Given the description of an element on the screen output the (x, y) to click on. 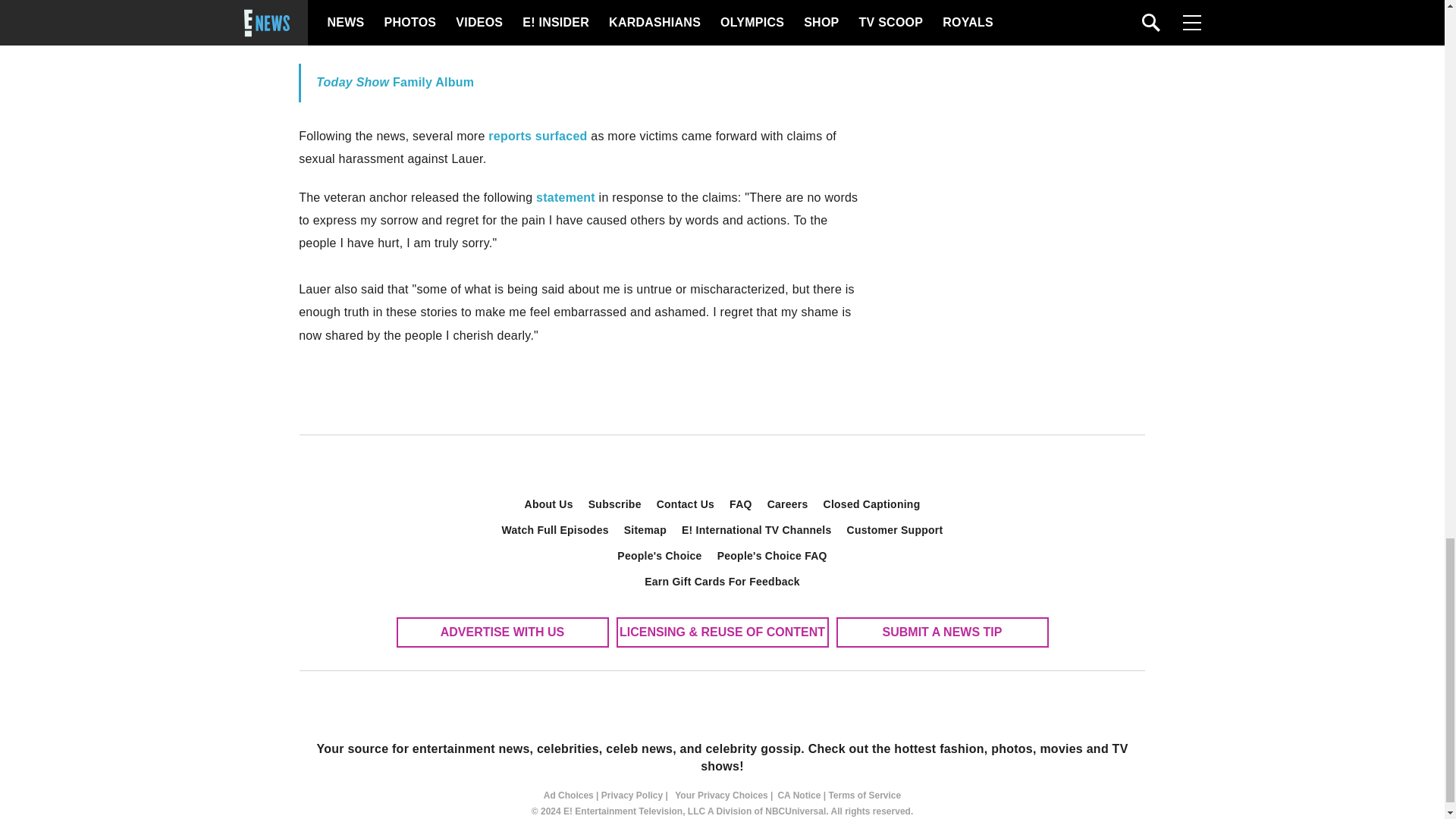
reports surfaced (536, 135)
About Us (548, 503)
Today Show Family Album (394, 82)
statement (565, 196)
